Given the description of an element on the screen output the (x, y) to click on. 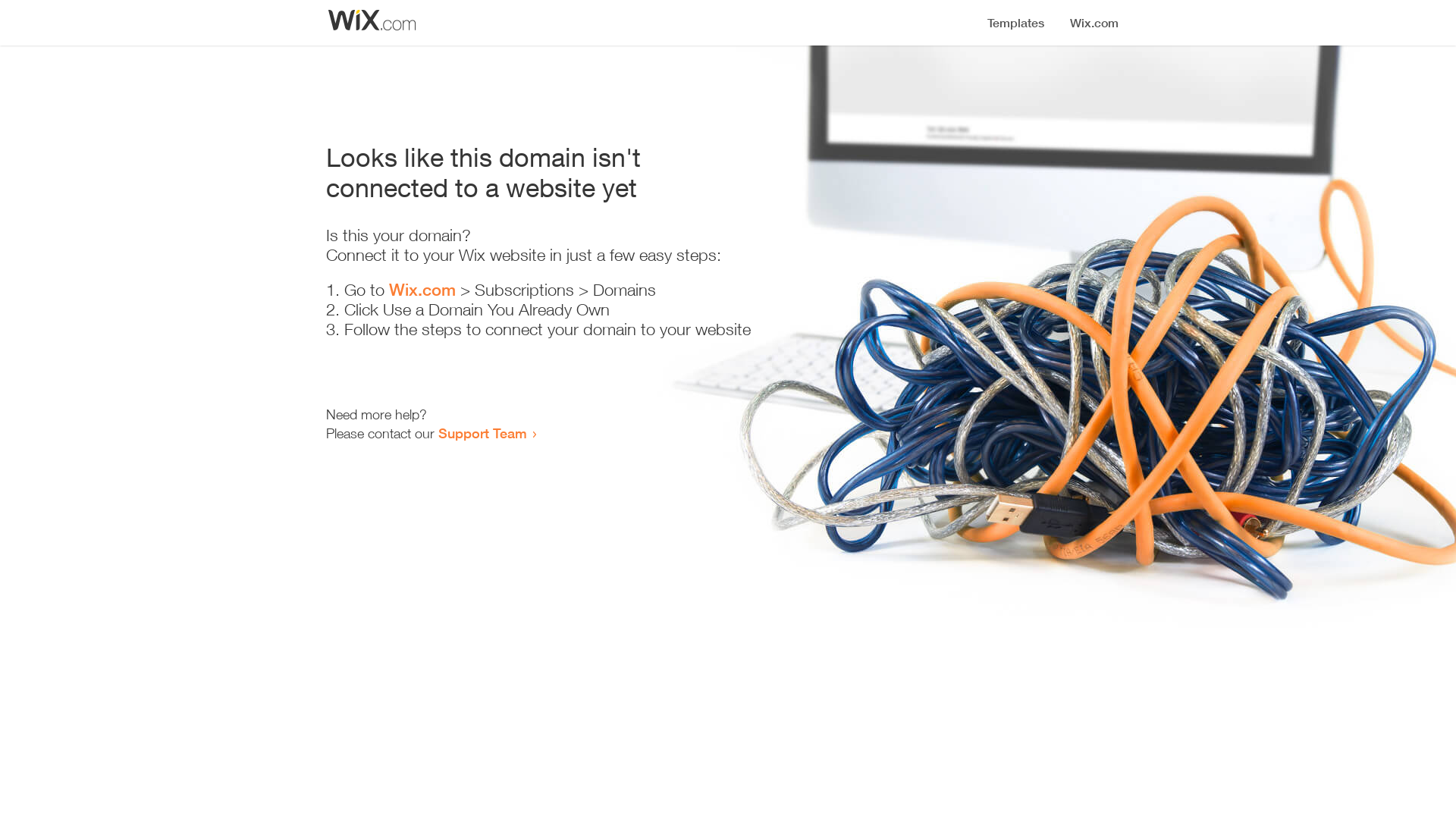
Wix.com Element type: text (422, 289)
Support Team Element type: text (482, 432)
